Given the description of an element on the screen output the (x, y) to click on. 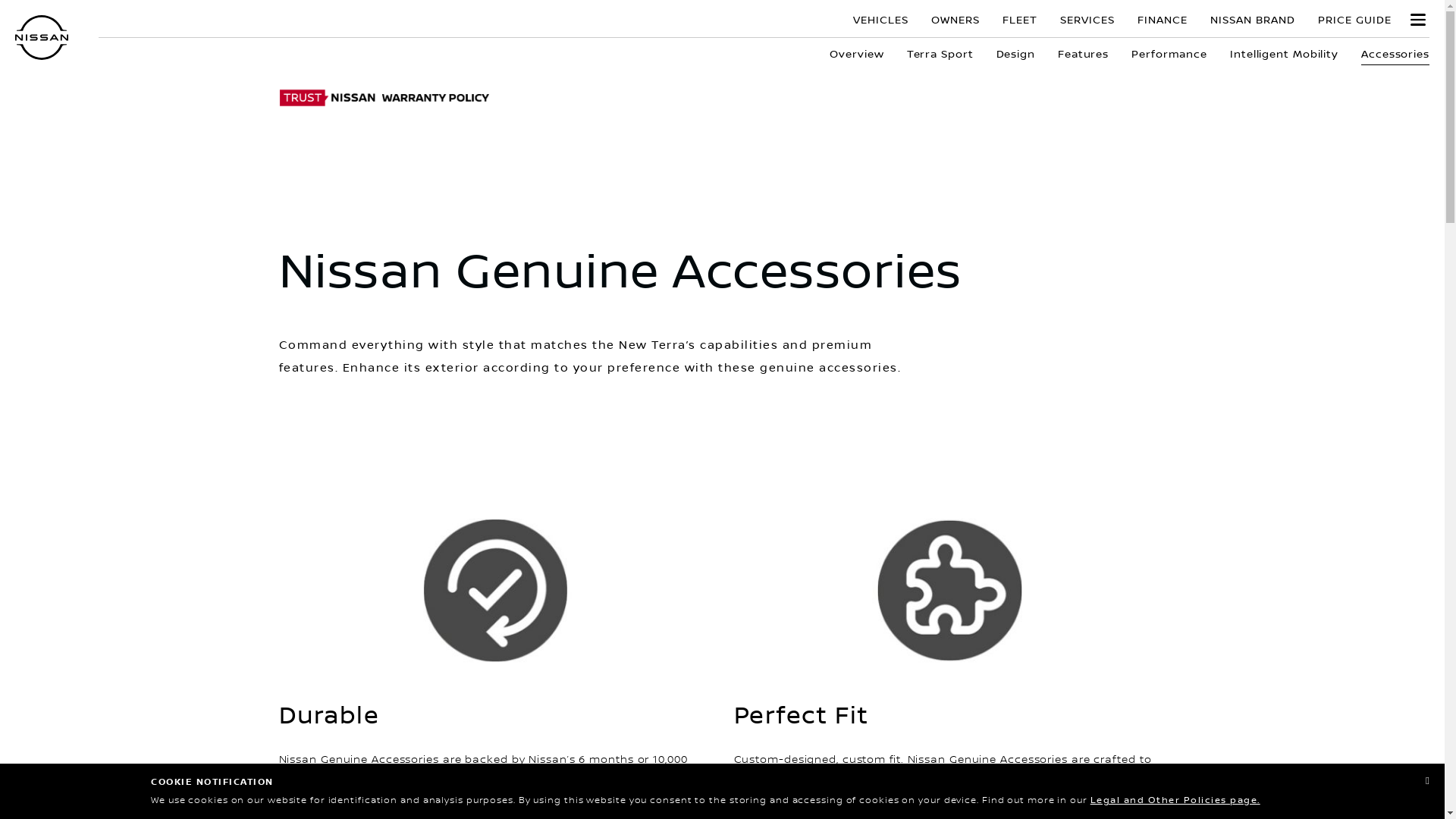
SERVICES (1087, 20)
OWNERS (955, 20)
FLEET (1019, 20)
PRICE GUIDE (1354, 20)
Legal and Other Policies page. (1175, 799)
VEHICLES (880, 20)
NISSAN BRAND (1252, 20)
FINANCE (1162, 20)
Open Menu (1417, 19)
